Given the description of an element on the screen output the (x, y) to click on. 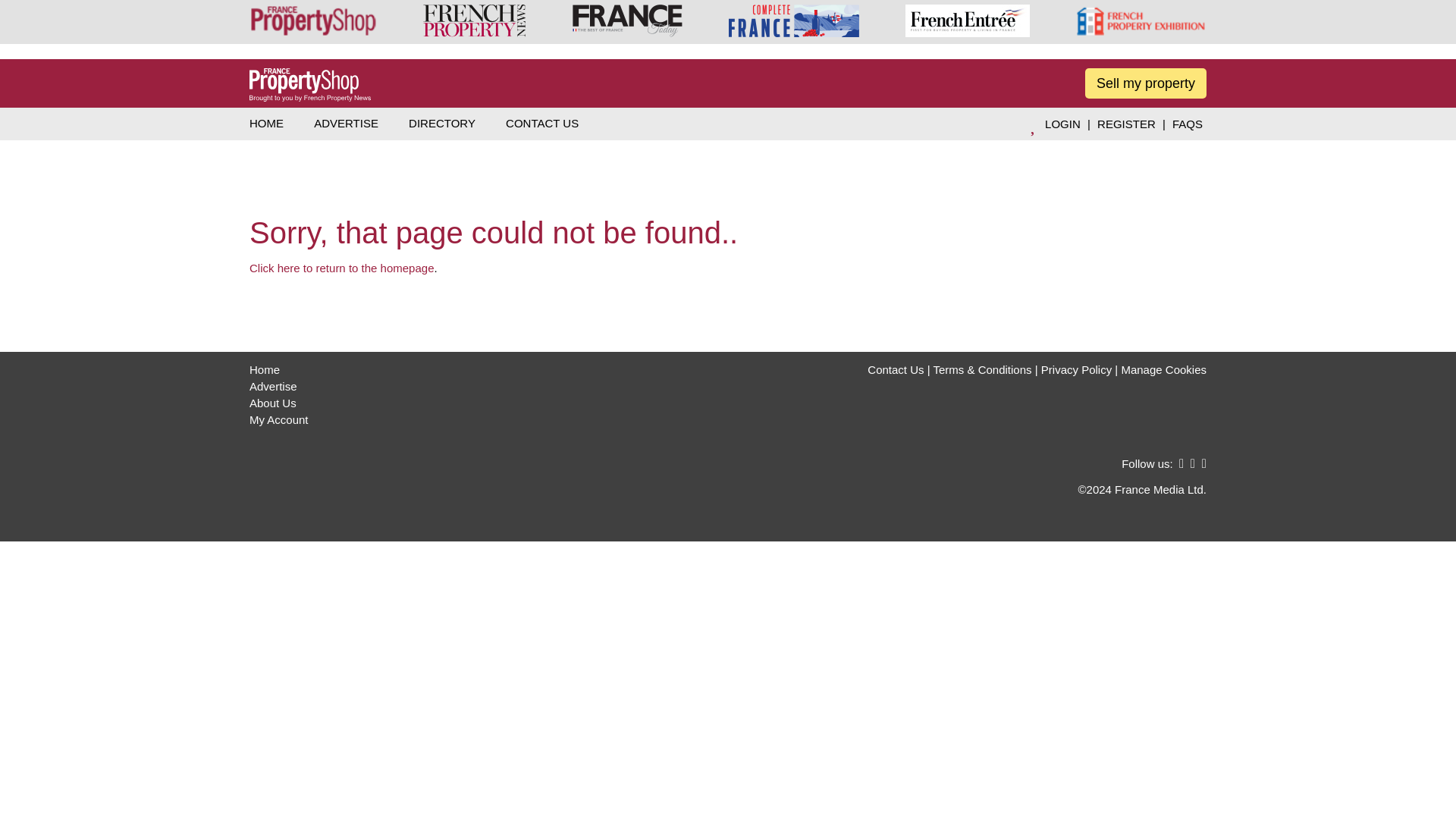
ADVERTISE (346, 123)
FAQS (1188, 123)
Click here to return to the homepage (340, 267)
REGISTER (1125, 123)
Contact Us (895, 369)
Home (263, 369)
My Account (278, 419)
Privacy Policy (1076, 369)
LOGIN (1062, 123)
Manage Cookies (1164, 369)
